Given the description of an element on the screen output the (x, y) to click on. 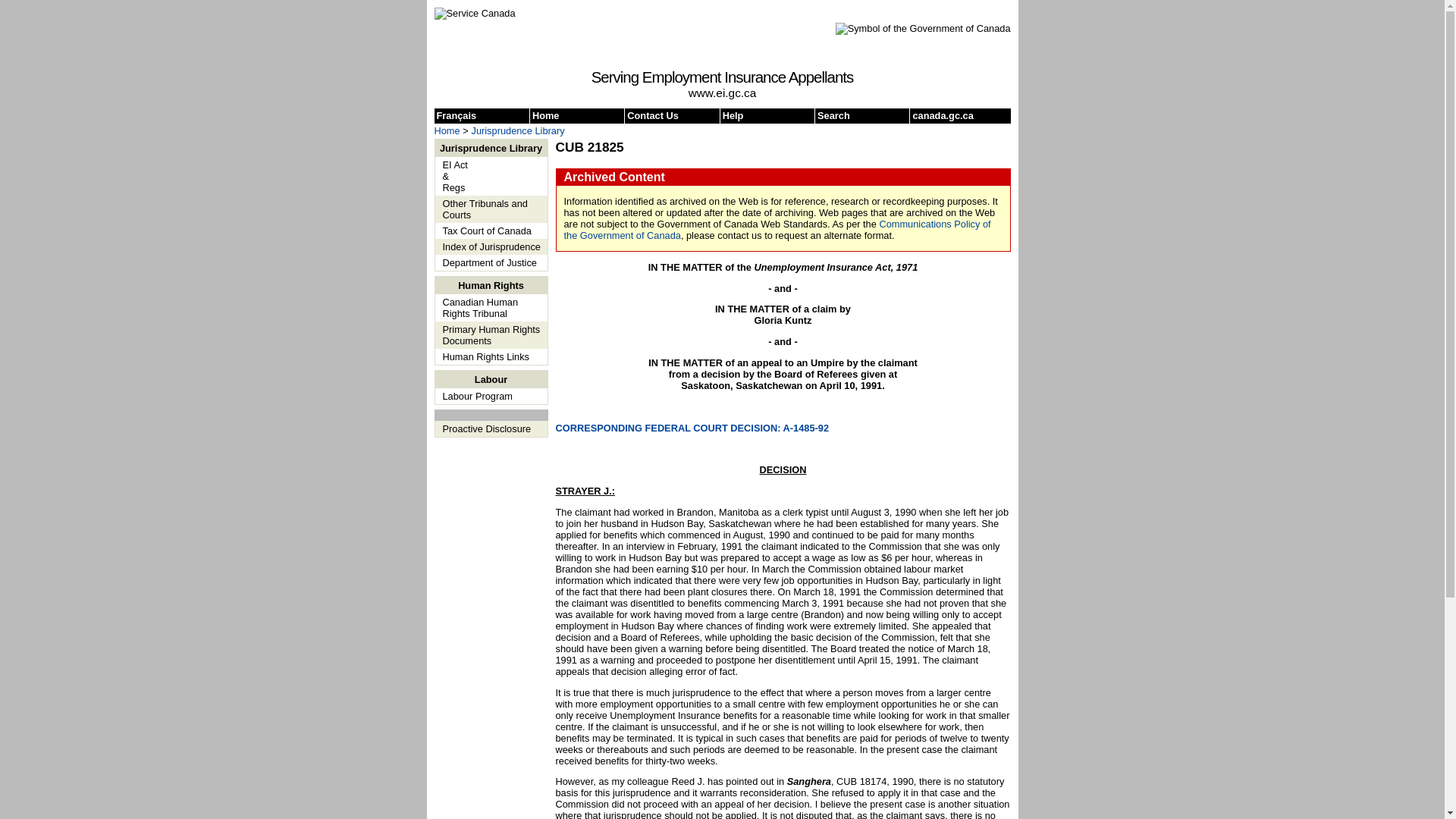
Help (767, 115)
Skip to main content (708, 11)
Contact Us (673, 115)
Other Tribunals and Courts (492, 209)
EI Act (492, 164)
canada.gc.ca (957, 115)
Jurisprudence Library (517, 130)
Search information on Employment Insurance (862, 115)
Home (446, 130)
Department of Justice (492, 262)
